Given the description of an element on the screen output the (x, y) to click on. 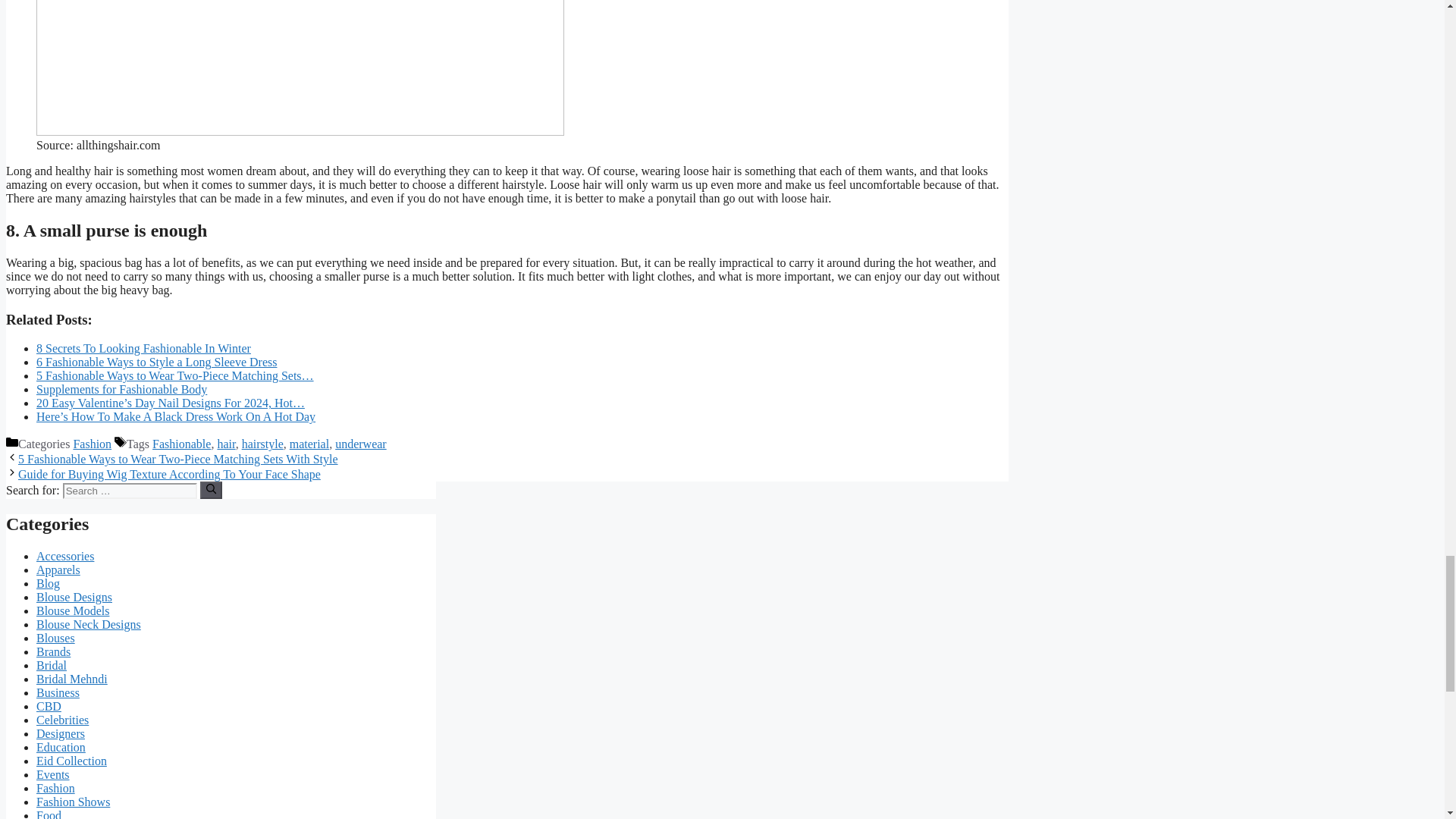
Business (58, 692)
Fashion (92, 443)
hair (225, 443)
Search for: (129, 490)
Accessories (65, 555)
Brands (52, 651)
Bridal (51, 665)
6 Fashionable Ways to Style a Long Sleeve Dress (156, 361)
Guide for Buying Wig Texture According To Your Face Shape (168, 473)
underwear (360, 443)
